Given the description of an element on the screen output the (x, y) to click on. 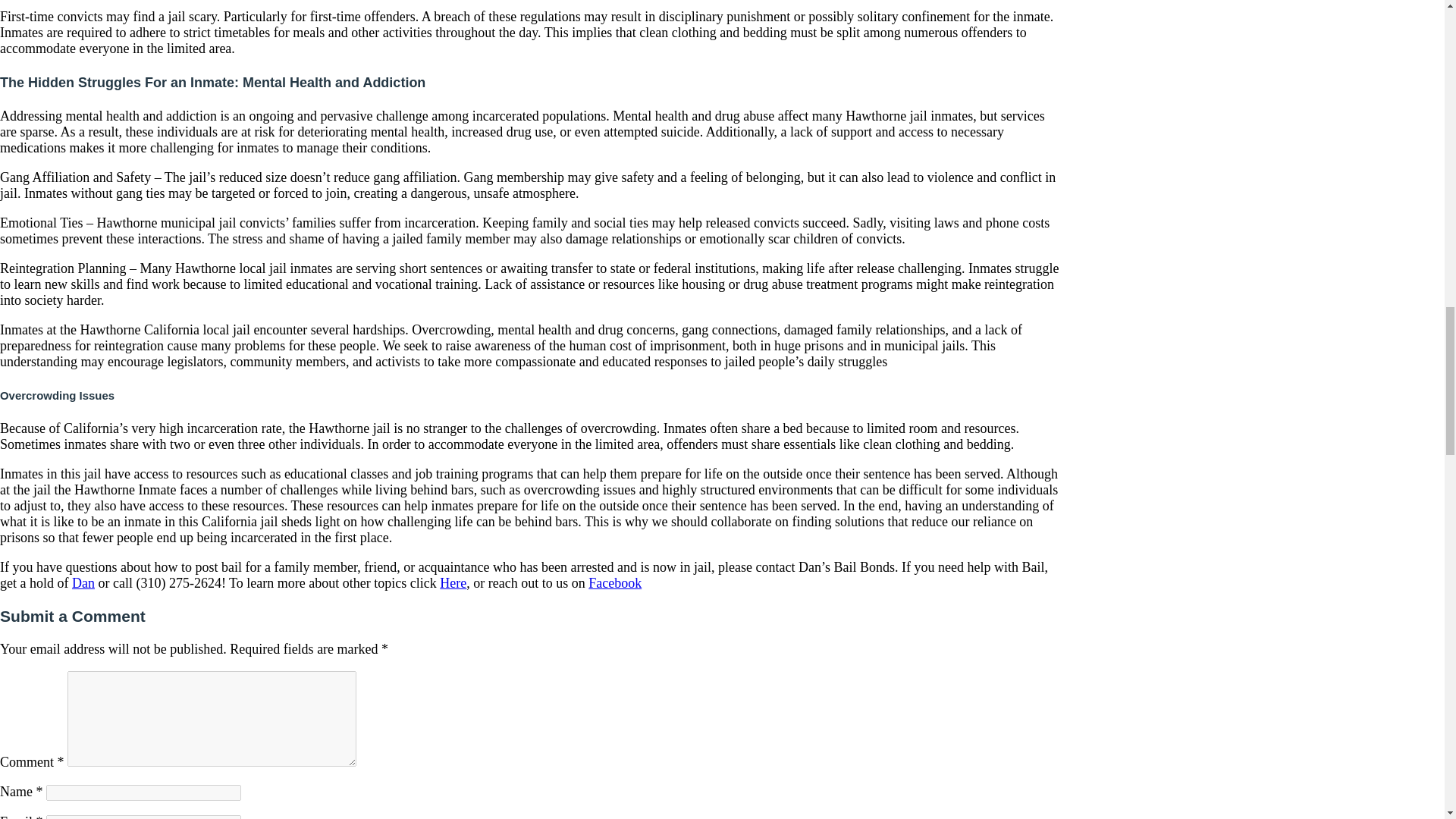
Facebook (615, 582)
Here (452, 582)
Dan (82, 582)
